Given the description of an element on the screen output the (x, y) to click on. 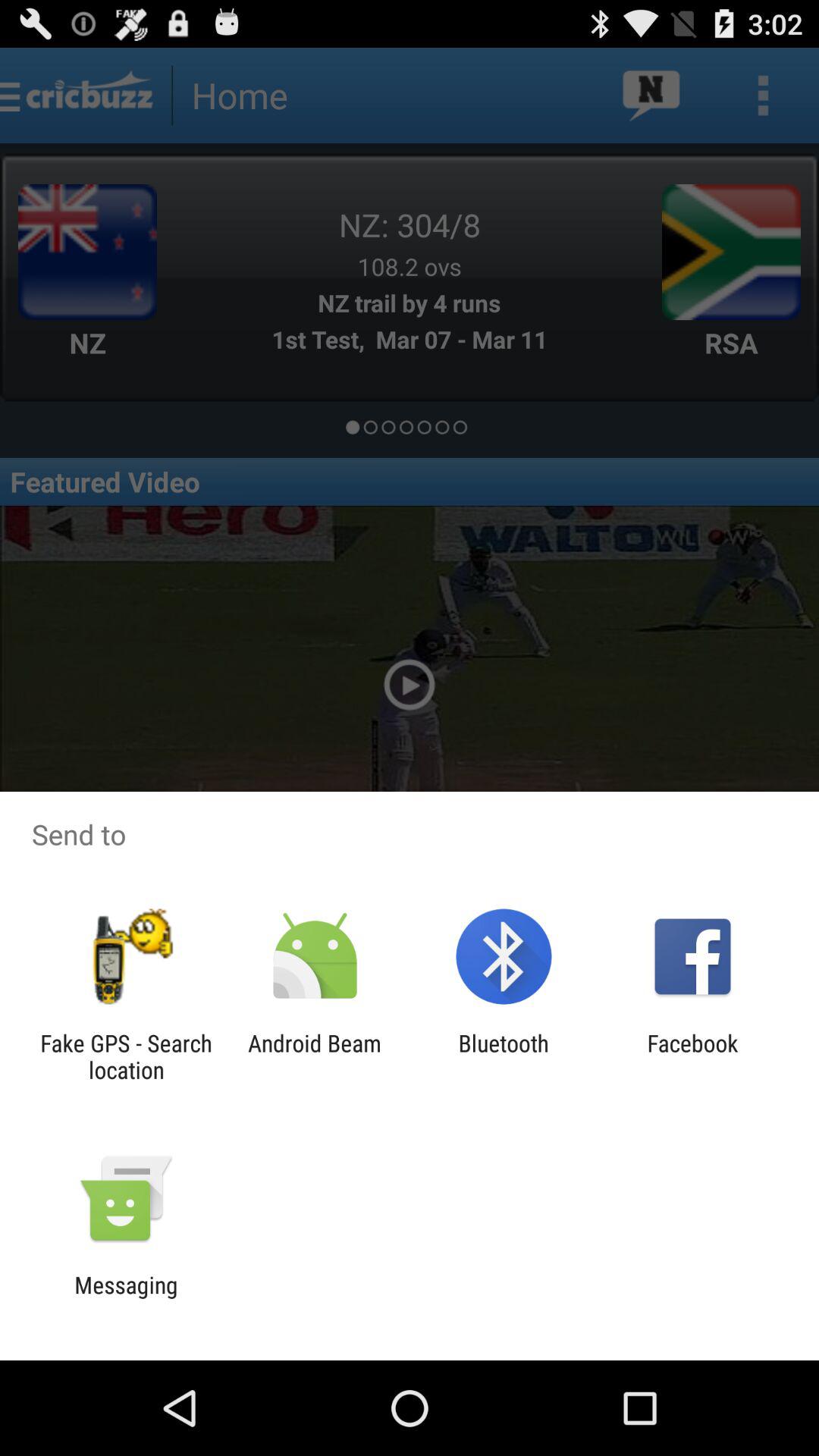
flip to messaging item (126, 1298)
